Given the description of an element on the screen output the (x, y) to click on. 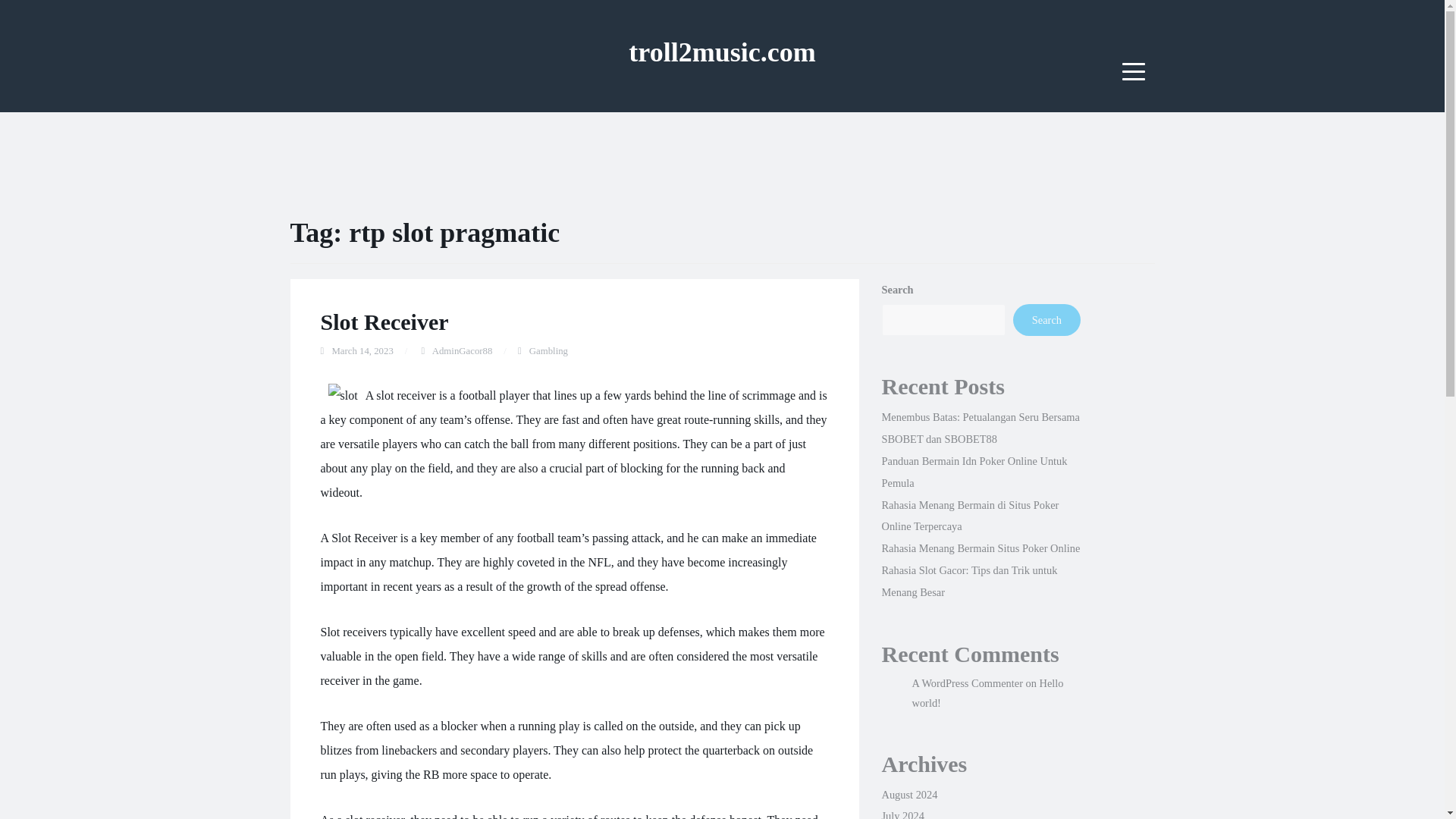
March 14, 2023 (362, 350)
Gambling (548, 350)
Rahasia Menang Bermain di Situs Poker Online Terpercaya (969, 515)
Rahasia Slot Gacor: Tips dan Trik untuk Menang Besar (968, 581)
Panduan Bermain Idn Poker Online Untuk Pemula (973, 471)
Slot Receiver (384, 321)
Menu (1133, 71)
Menembus Batas: Petualangan Seru Bersama SBOBET dan SBOBET88 (979, 428)
August 2024 (908, 794)
Hello world! (986, 693)
